Given the description of an element on the screen output the (x, y) to click on. 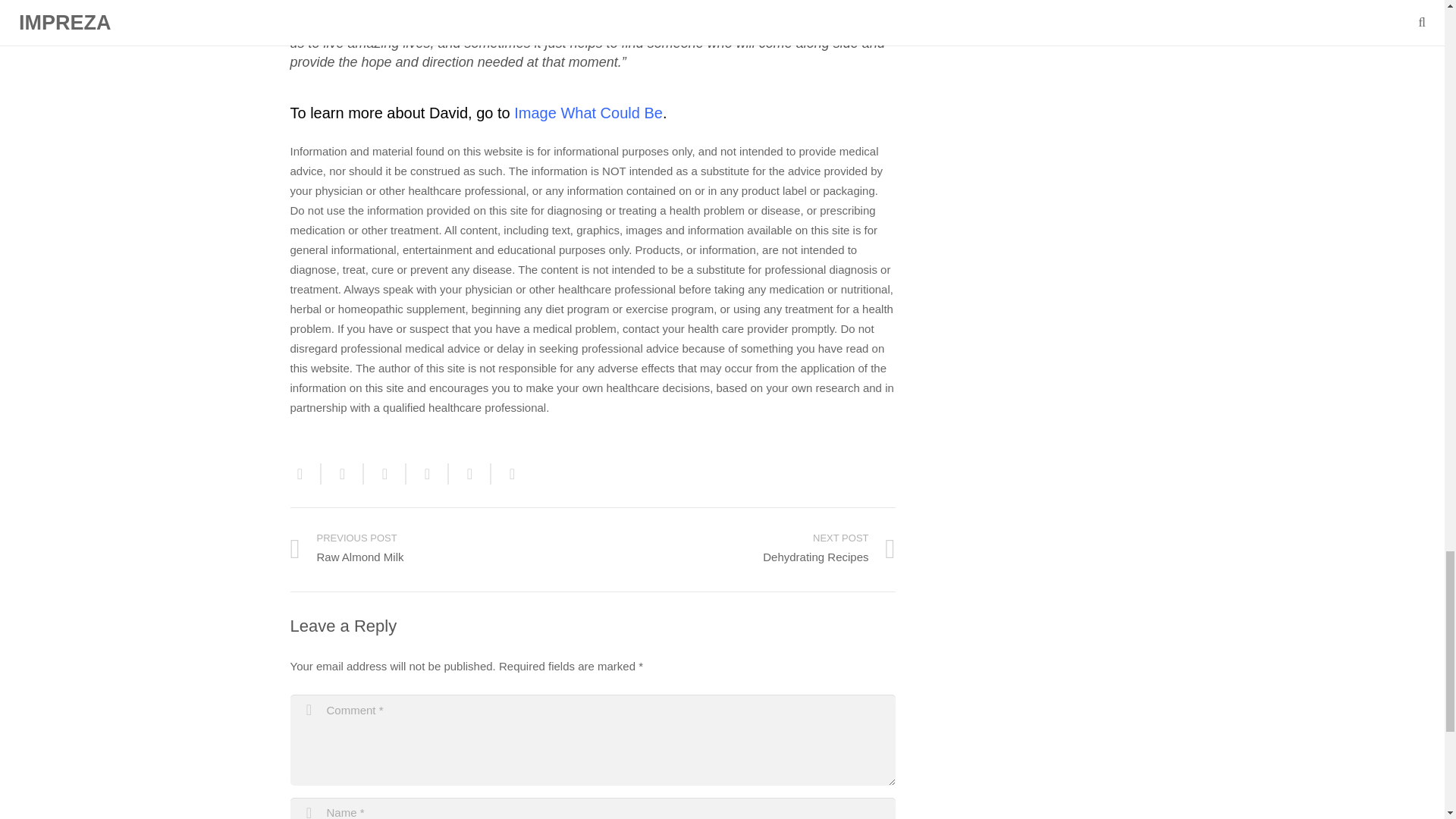
Image What Could Be (587, 112)
Share this (470, 473)
Share this (342, 473)
Pin this (507, 473)
Tweet this (385, 473)
Email this (440, 549)
Share this (304, 473)
